Given the description of an element on the screen output the (x, y) to click on. 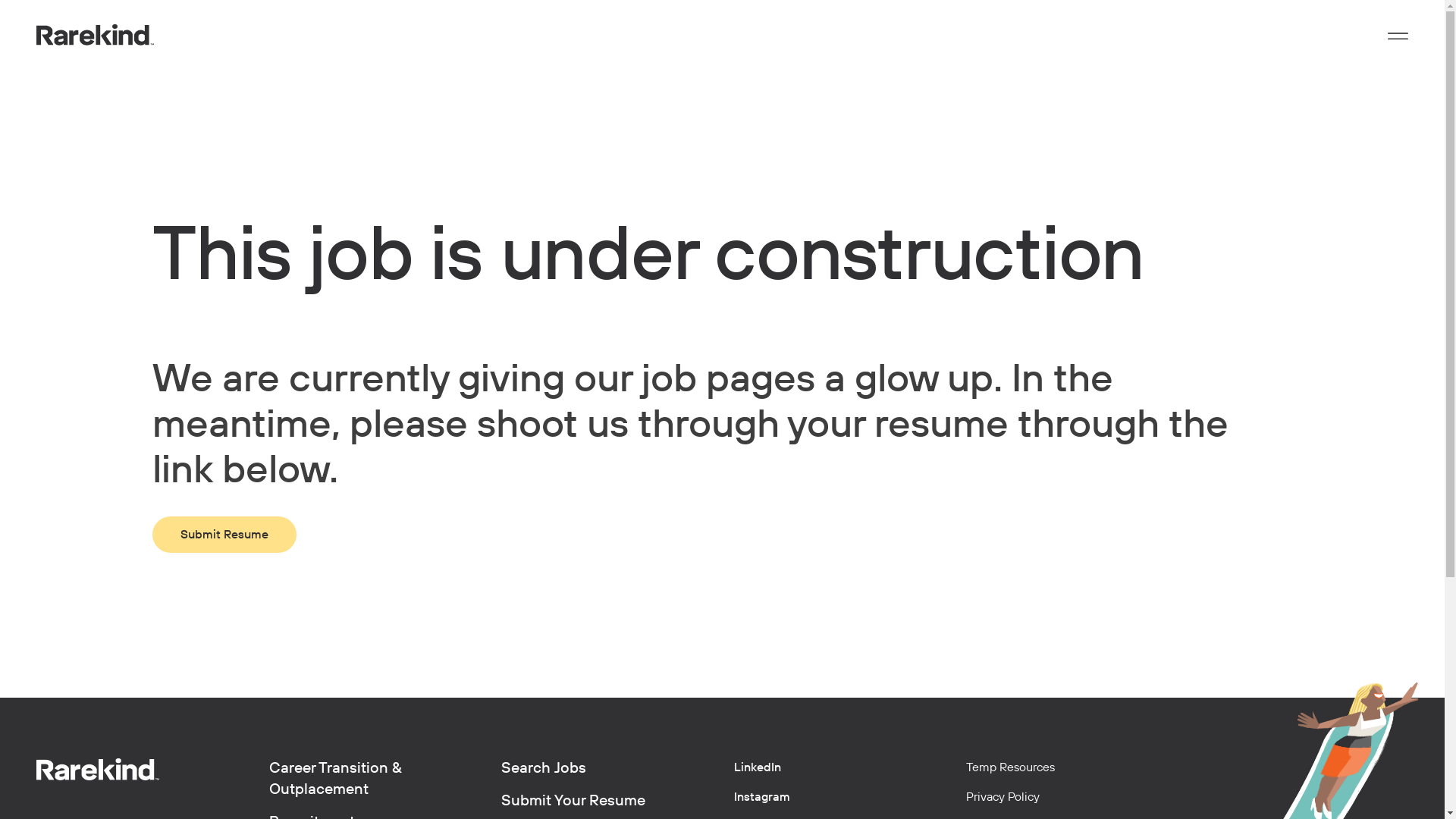
Submit Resume Element type: text (223, 534)
Instagram Element type: text (762, 796)
Search Jobs Element type: text (606, 774)
Temp Resources Element type: text (1010, 767)
Career Transition & Outplacement Element type: text (373, 785)
Privacy Policy Element type: text (1002, 796)
LinkedIn Element type: text (757, 767)
